Given the description of an element on the screen output the (x, y) to click on. 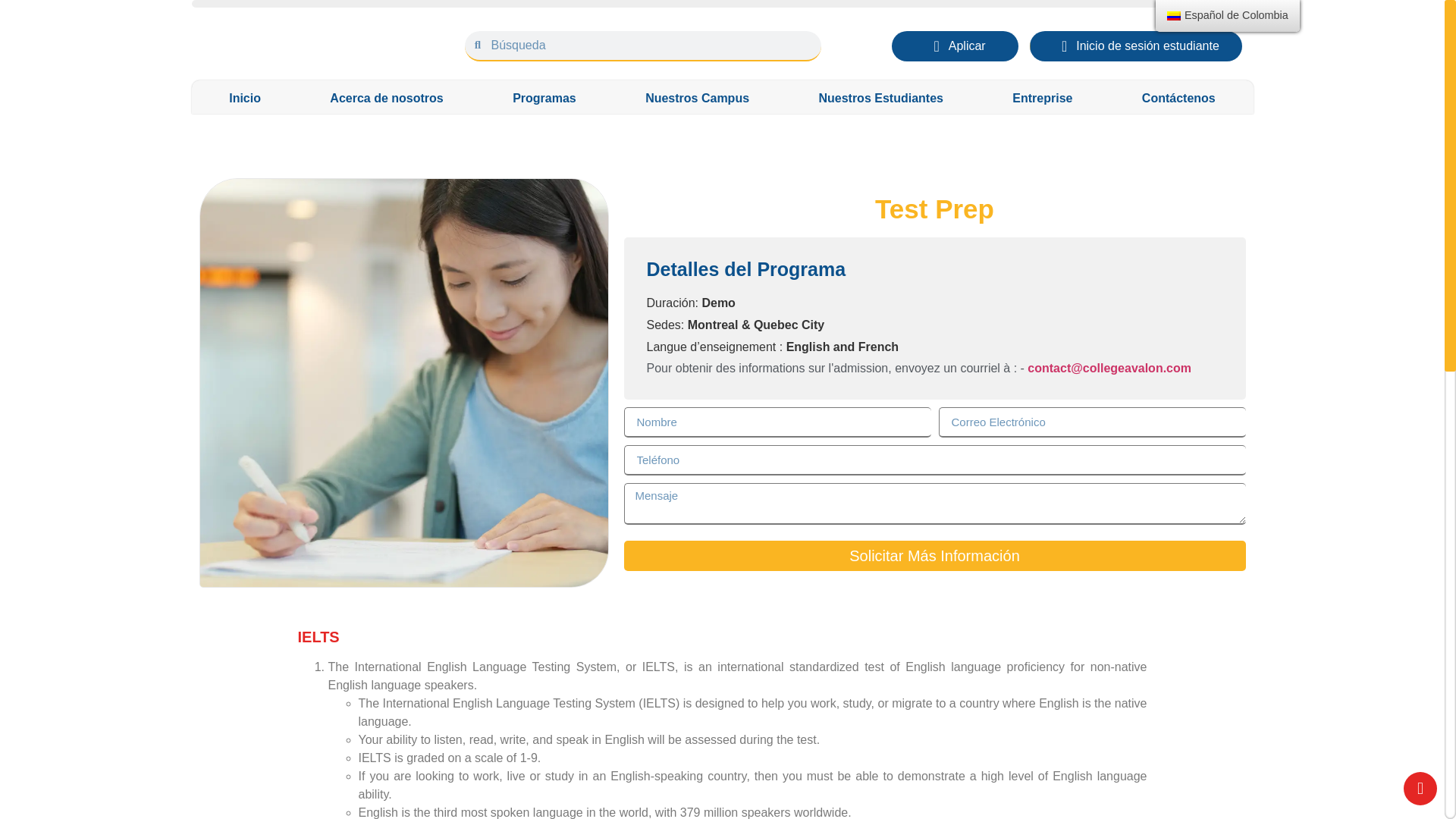
Entreprise (1043, 98)
Aplicar (954, 46)
Inicio (244, 98)
Nuestros Campus (696, 98)
Nuestros Estudiantes (881, 98)
Acerca de nosotros (387, 98)
Programas (543, 98)
